Given the description of an element on the screen output the (x, y) to click on. 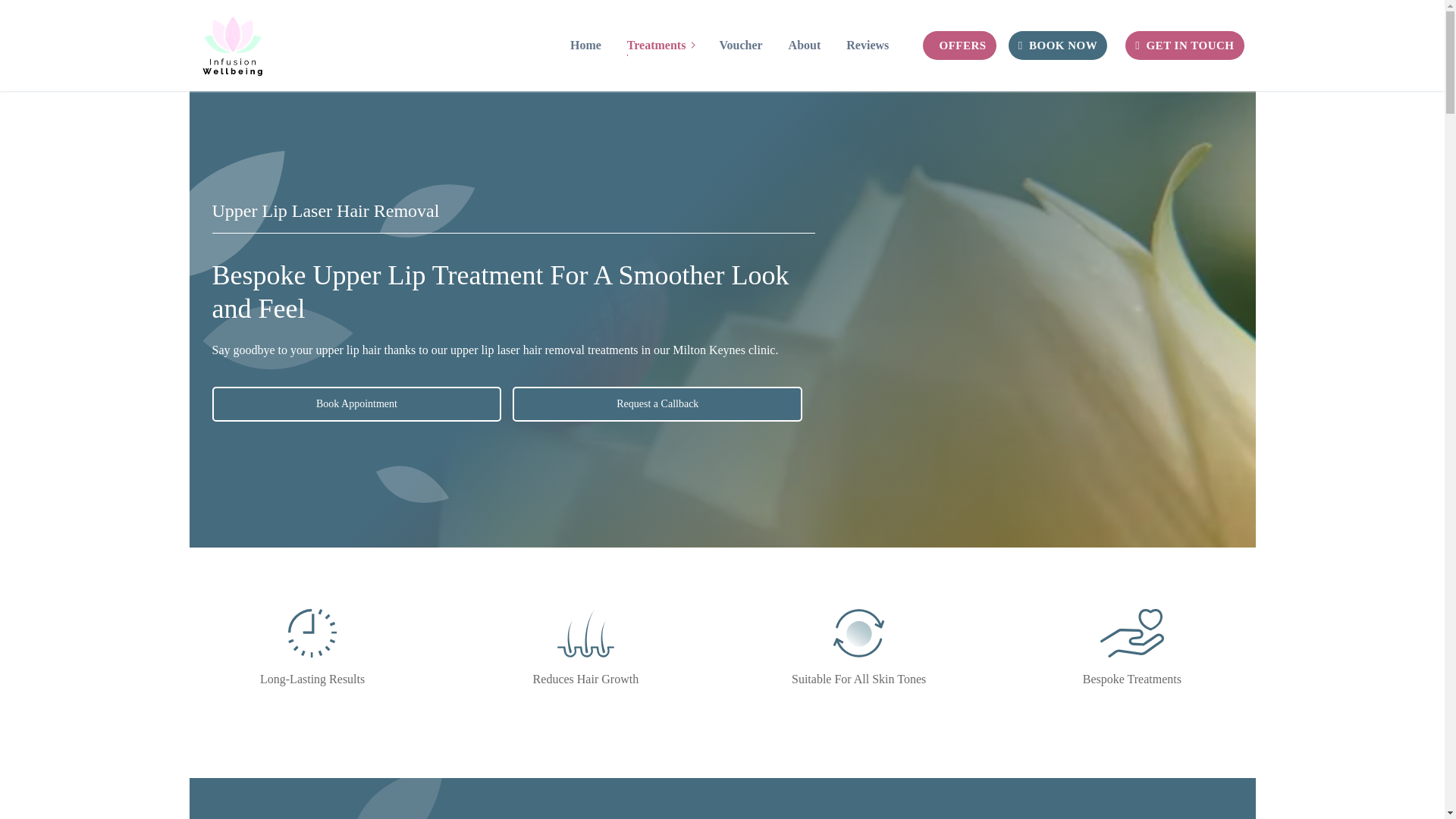
quick-recovery-icon (660, 45)
long-lasting-results-icon (858, 633)
bespoke-treatment-icon (311, 633)
Home (1131, 633)
reduced-hair-growth-icon (585, 45)
Laser Hair Removal Booking (585, 633)
